Given the description of an element on the screen output the (x, y) to click on. 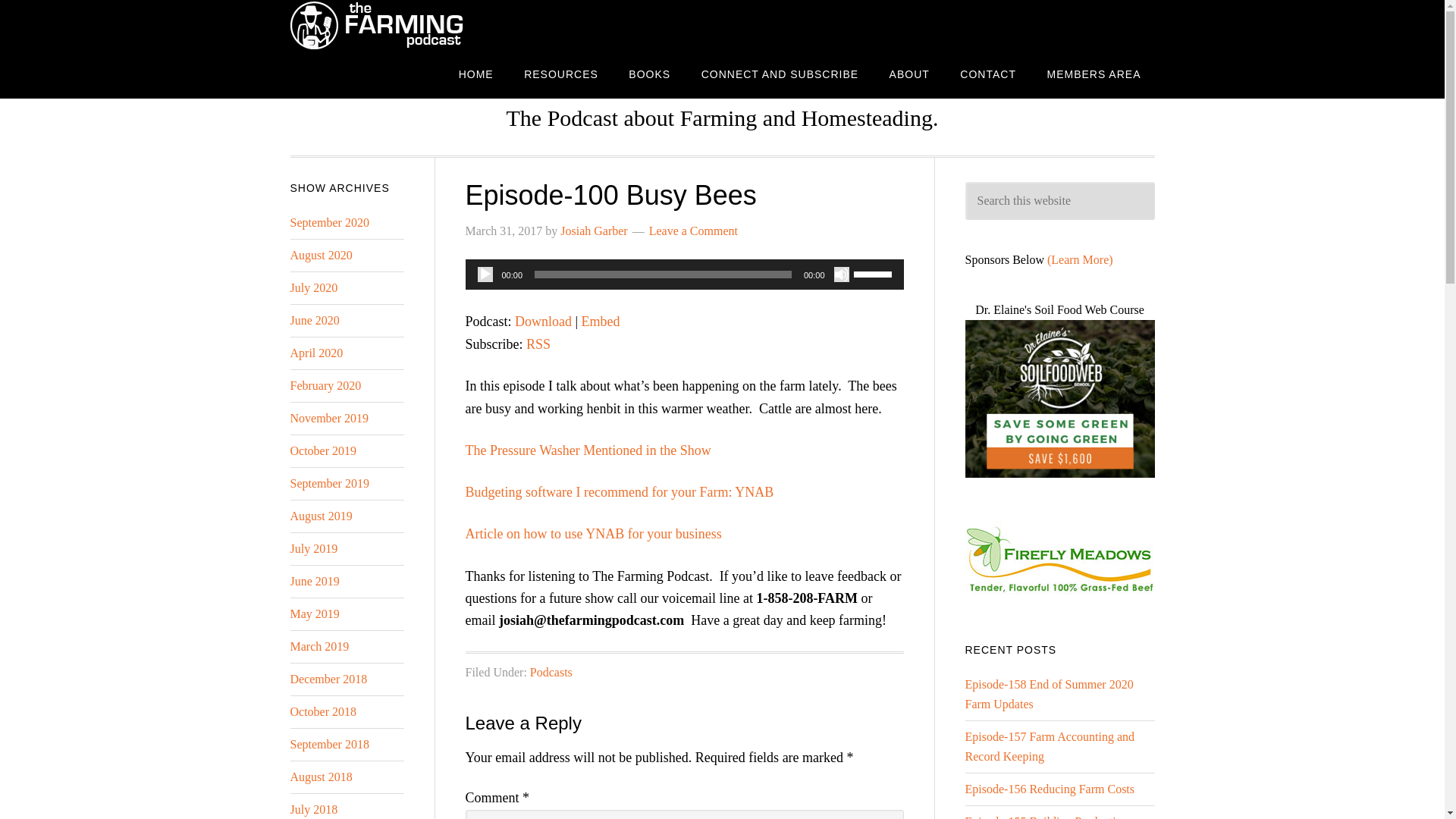
Podcasts (550, 671)
Episode-158 End of Summer 2020 Farm Updates (1047, 694)
Episode-156 Reducing Farm Costs (1048, 788)
ABOUT (909, 73)
CONNECT AND SUBSCRIBE (779, 73)
Episode-157 Farm Accounting and Record Keeping (1048, 746)
July 2020 (313, 287)
Embed (600, 321)
August 2020 (320, 254)
Leave a Comment (693, 230)
Download (543, 321)
Play (485, 273)
Budgeting software I recommend for your Farm: YNAB (619, 491)
